Given the description of an element on the screen output the (x, y) to click on. 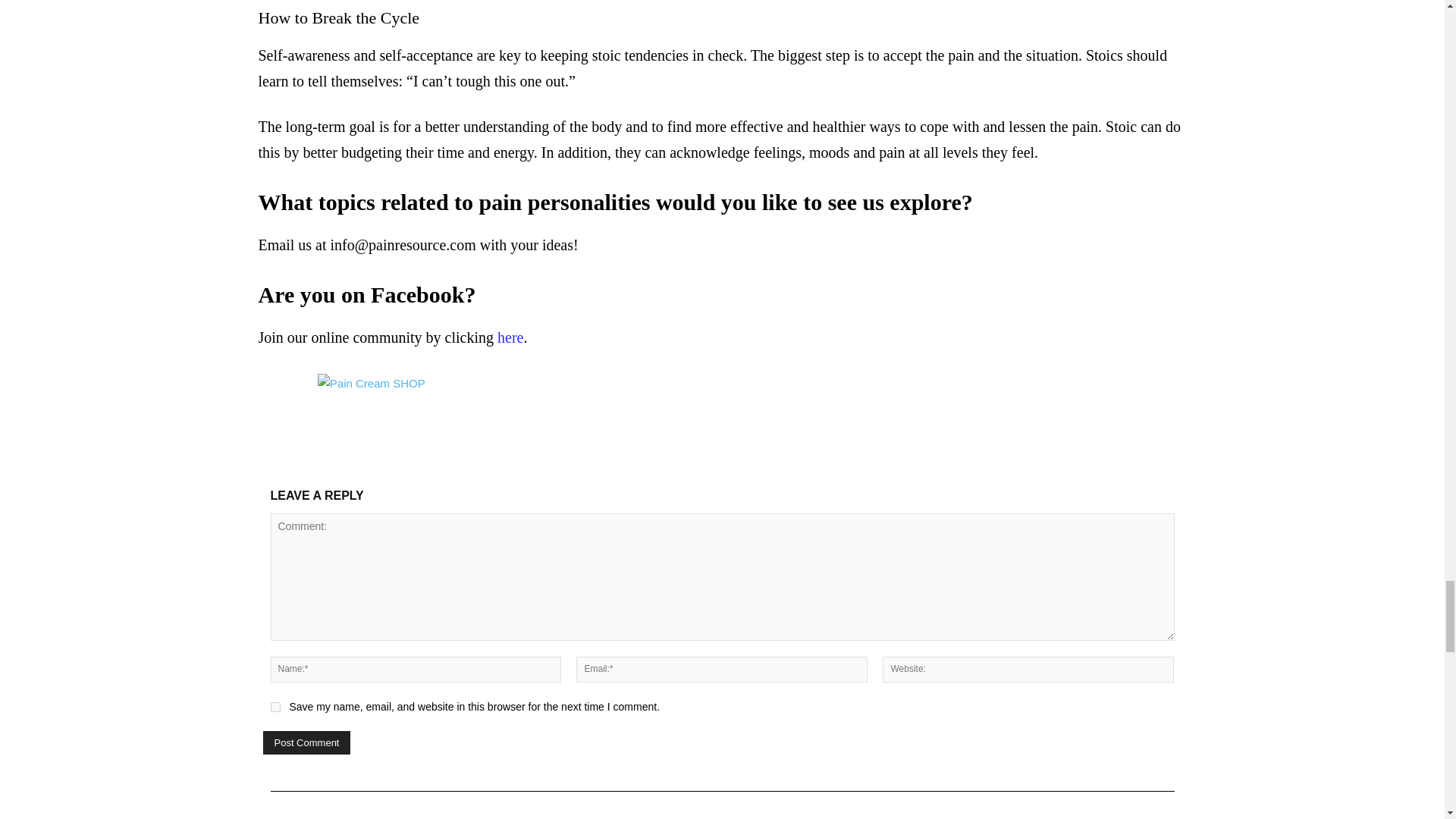
yes (274, 706)
Post Comment (306, 742)
